Given the description of an element on the screen output the (x, y) to click on. 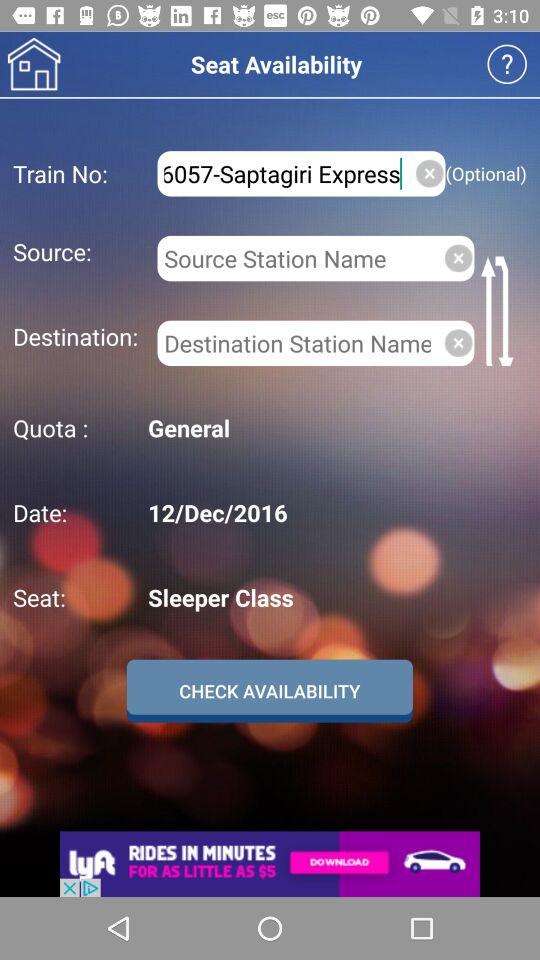
launch item above general (500, 310)
